Given the description of an element on the screen output the (x, y) to click on. 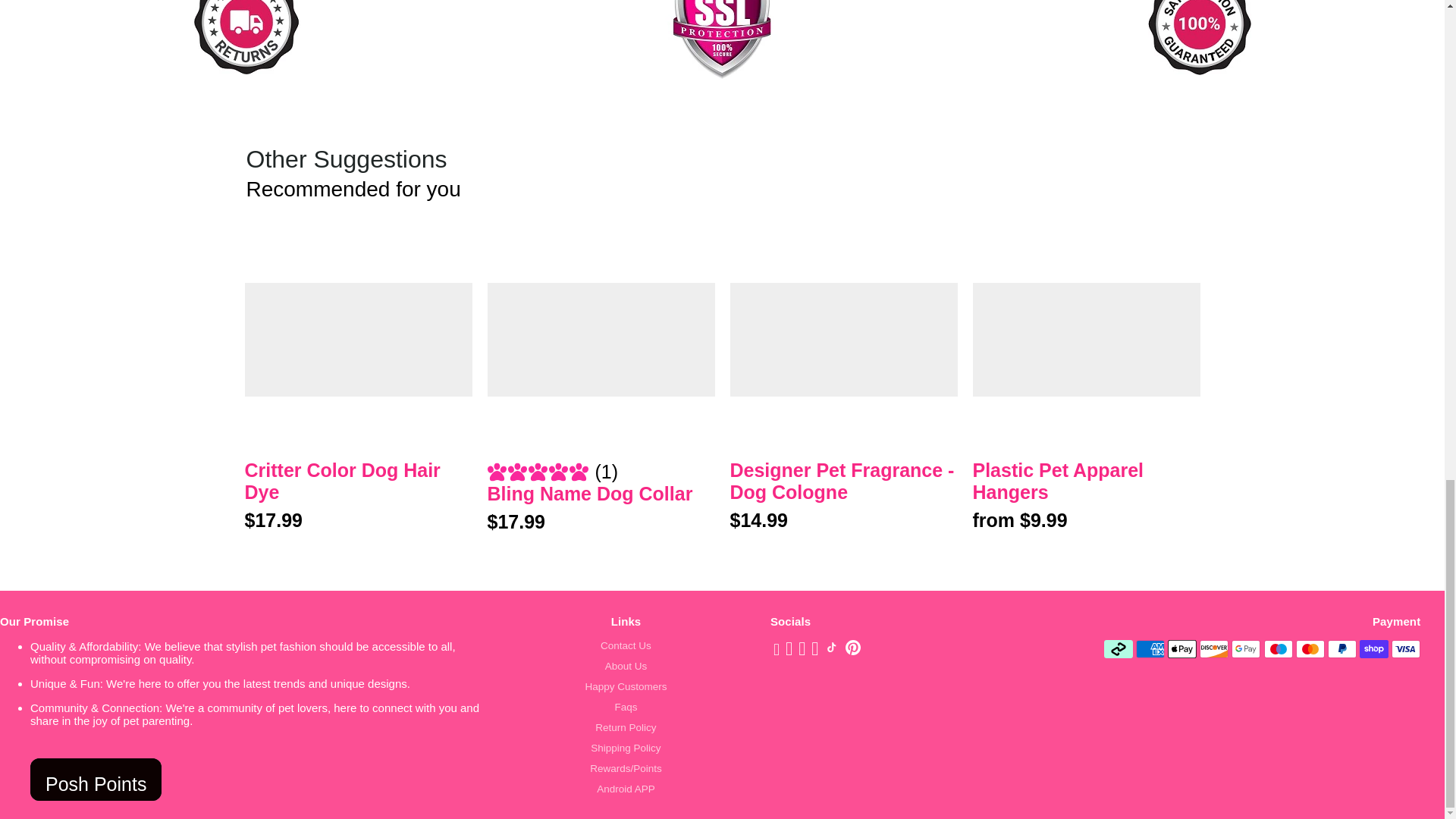
Afterpay (1117, 648)
